Given the description of an element on the screen output the (x, y) to click on. 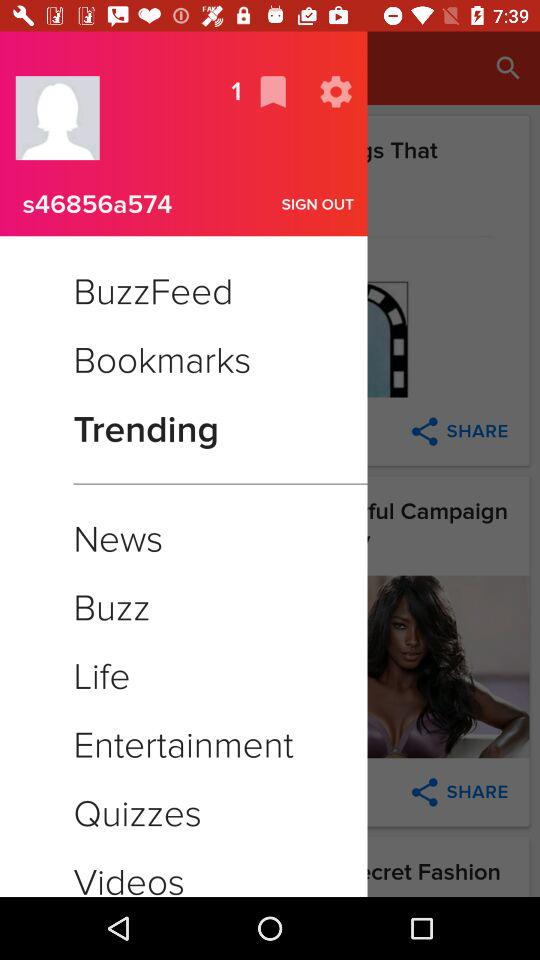
click on sign out (317, 204)
click on contact icon beside 1 (57, 117)
